Given the description of an element on the screen output the (x, y) to click on. 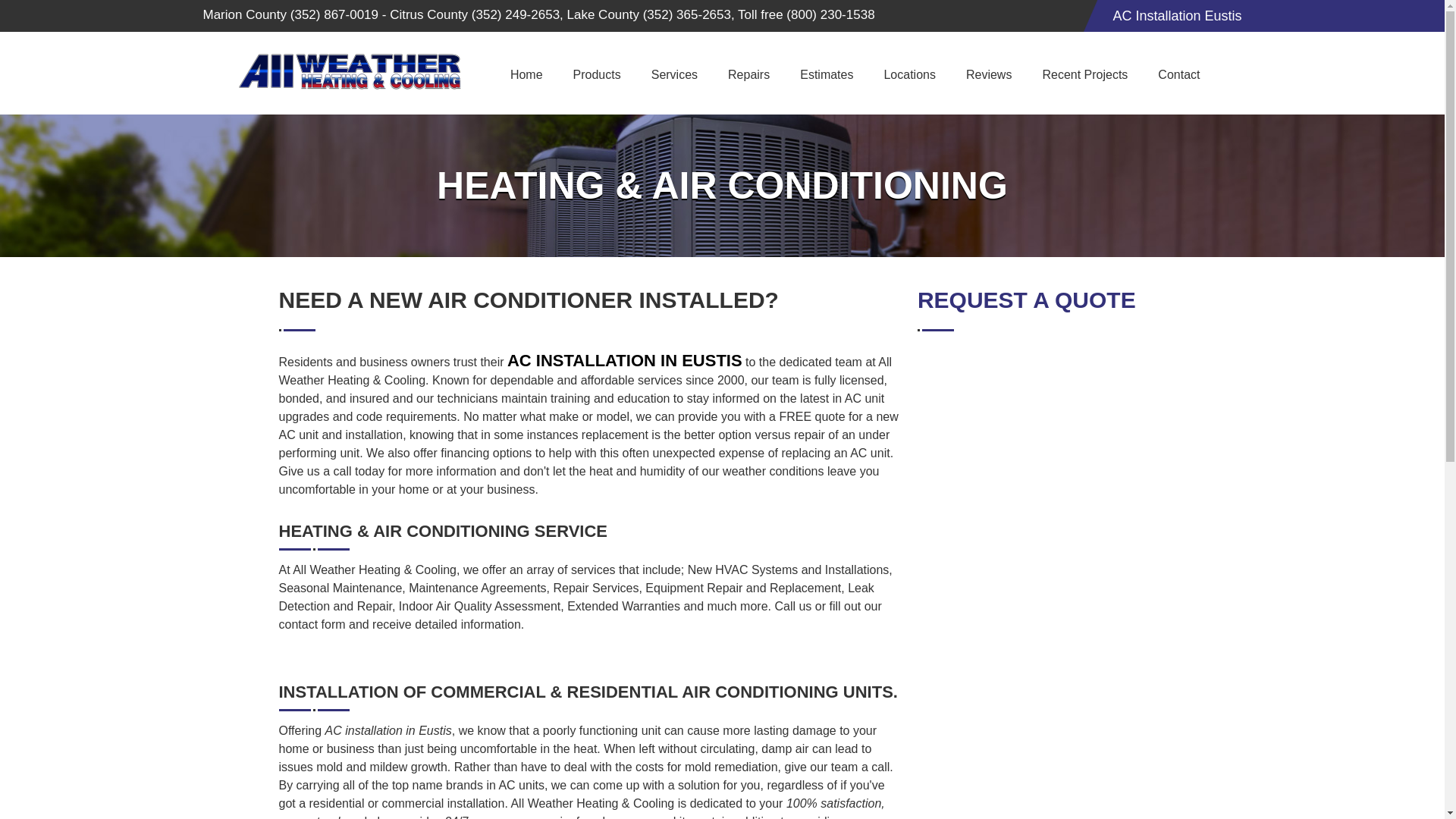
Products (596, 74)
Services (674, 74)
Request a Quote (1041, 584)
Repairs (748, 74)
Contact (1178, 74)
Recent Projects (1084, 74)
Locations (908, 74)
Reviews (988, 74)
Home (526, 74)
Estimates (825, 74)
